Given the description of an element on the screen output the (x, y) to click on. 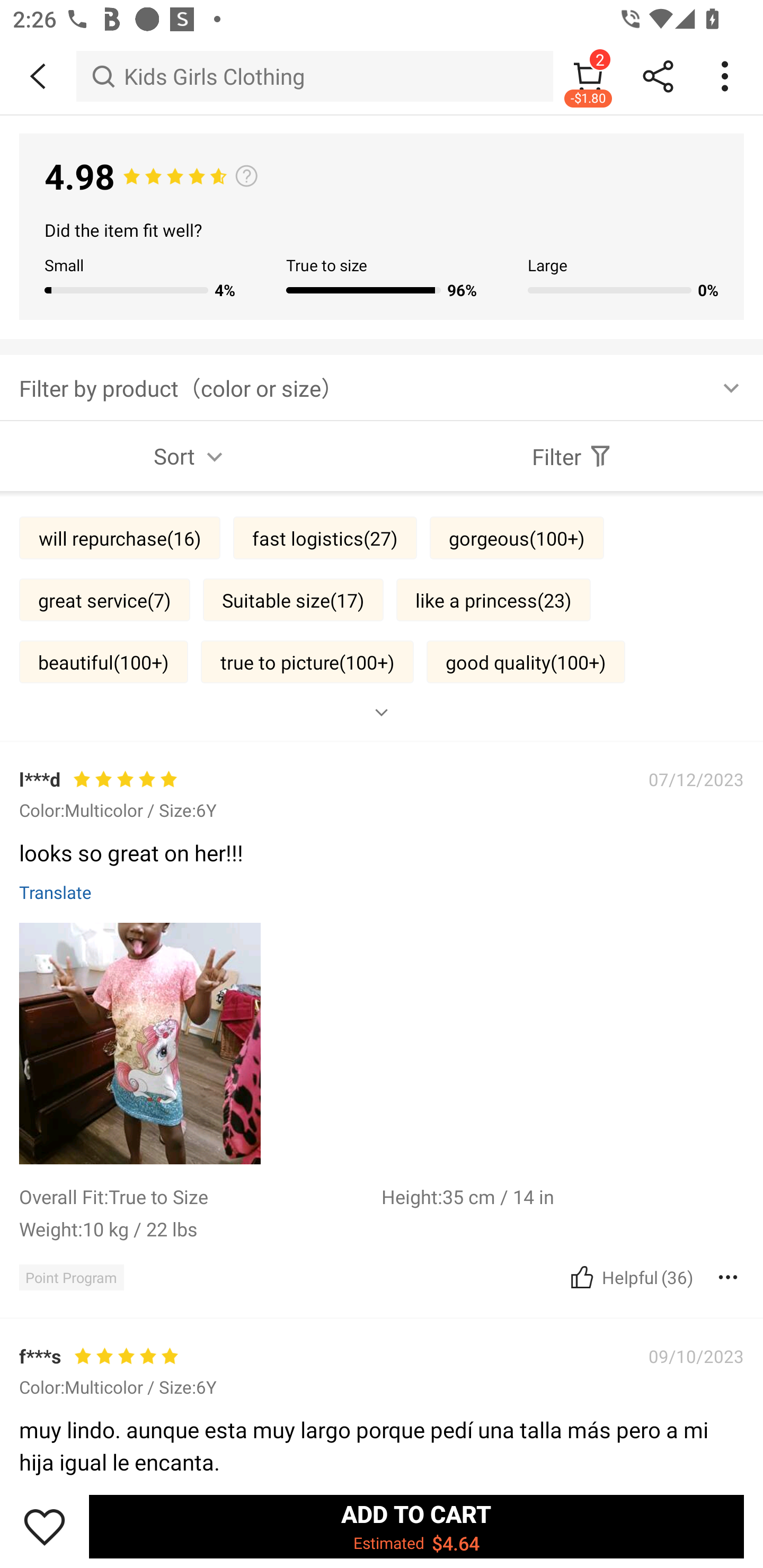
BACK (38, 75)
2 -$1.80 (588, 75)
Kids Girls Clothing (314, 75)
Filter by product（color or size） (381, 387)
Sort (190, 455)
Filter (572, 455)
will repurchase(16) (119, 537)
fast logistics(27) (325, 537)
gorgeous(100‎+) (516, 537)
great service(7) (104, 599)
Suitable size(17) (292, 599)
like a princess(23) (492, 599)
beautiful(100‎+) (103, 661)
true to picture(100‎+) (306, 661)
good quality(100‎+) (525, 661)
Return Policy (370, 728)
Translate (55, 891)
Overall Fit:True to Size (200, 1195)
Height:35 cm / 14 in (562, 1195)
Weight:10 kg / 22 lbs (200, 1228)
Cancel Helpful Was this article helpful? (36) (629, 1277)
Point Program (71, 1276)
will repurchase(16) (119, 1389)
ADD TO CART Estimated   $4.64 (416, 1526)
Save (44, 1526)
